Given the description of an element on the screen output the (x, y) to click on. 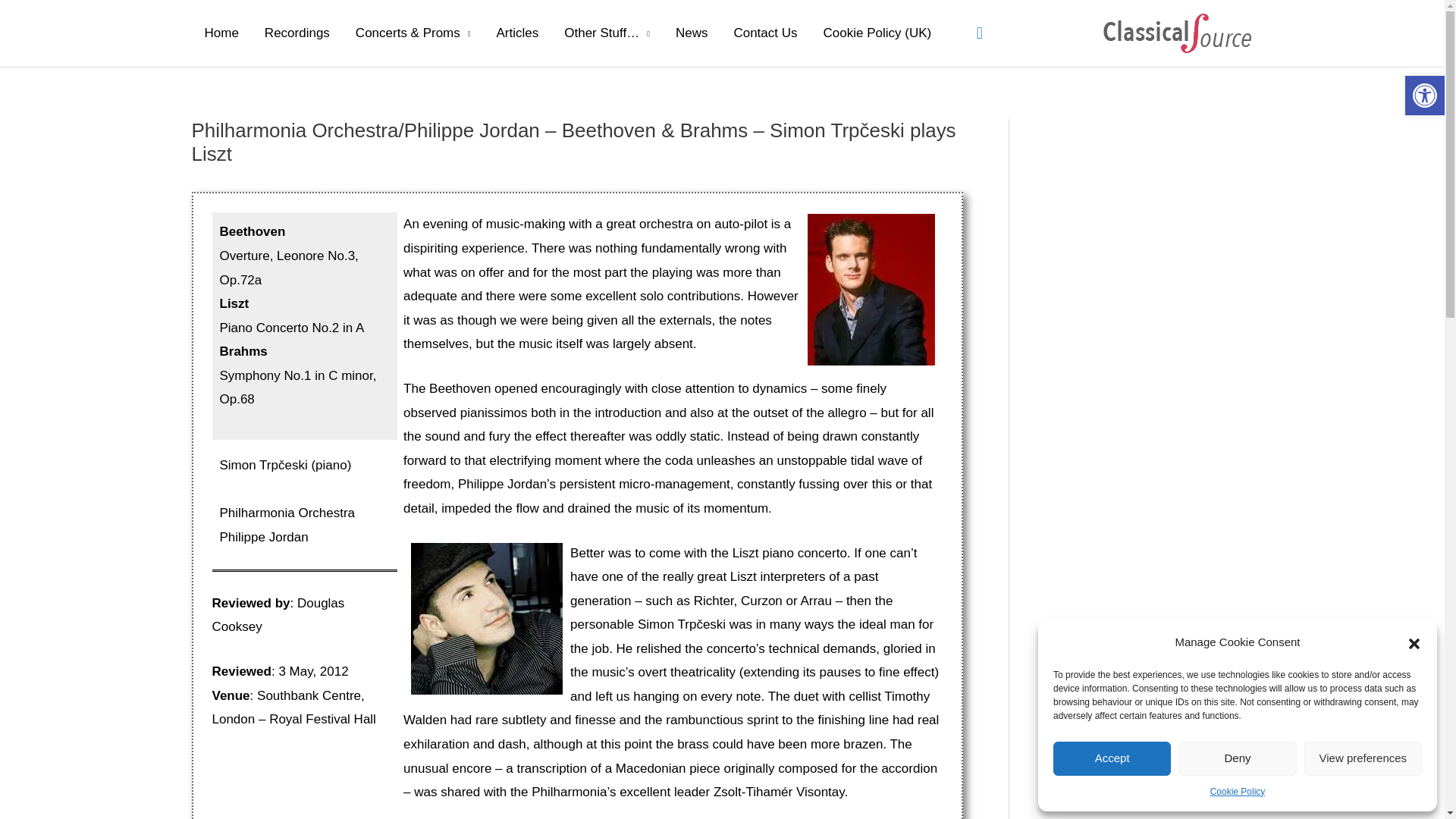
Articles (517, 33)
Accessibility Tools (1424, 95)
Cookie Policy (1237, 791)
View preferences (1363, 758)
Recordings (296, 33)
Home (220, 33)
Accept (1111, 758)
Deny (1236, 758)
